Given the description of an element on the screen output the (x, y) to click on. 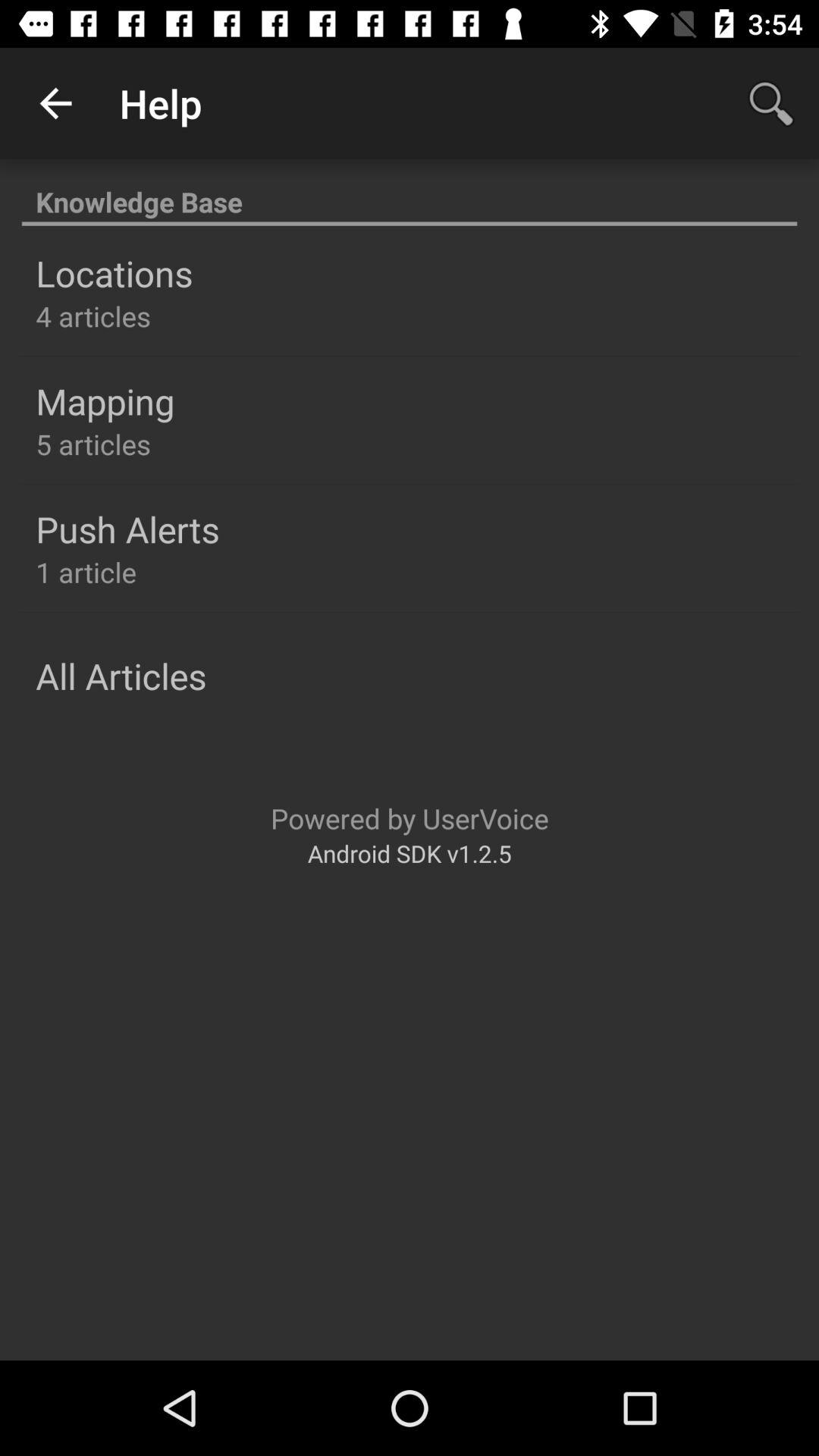
flip to the push alerts item (127, 529)
